Given the description of an element on the screen output the (x, y) to click on. 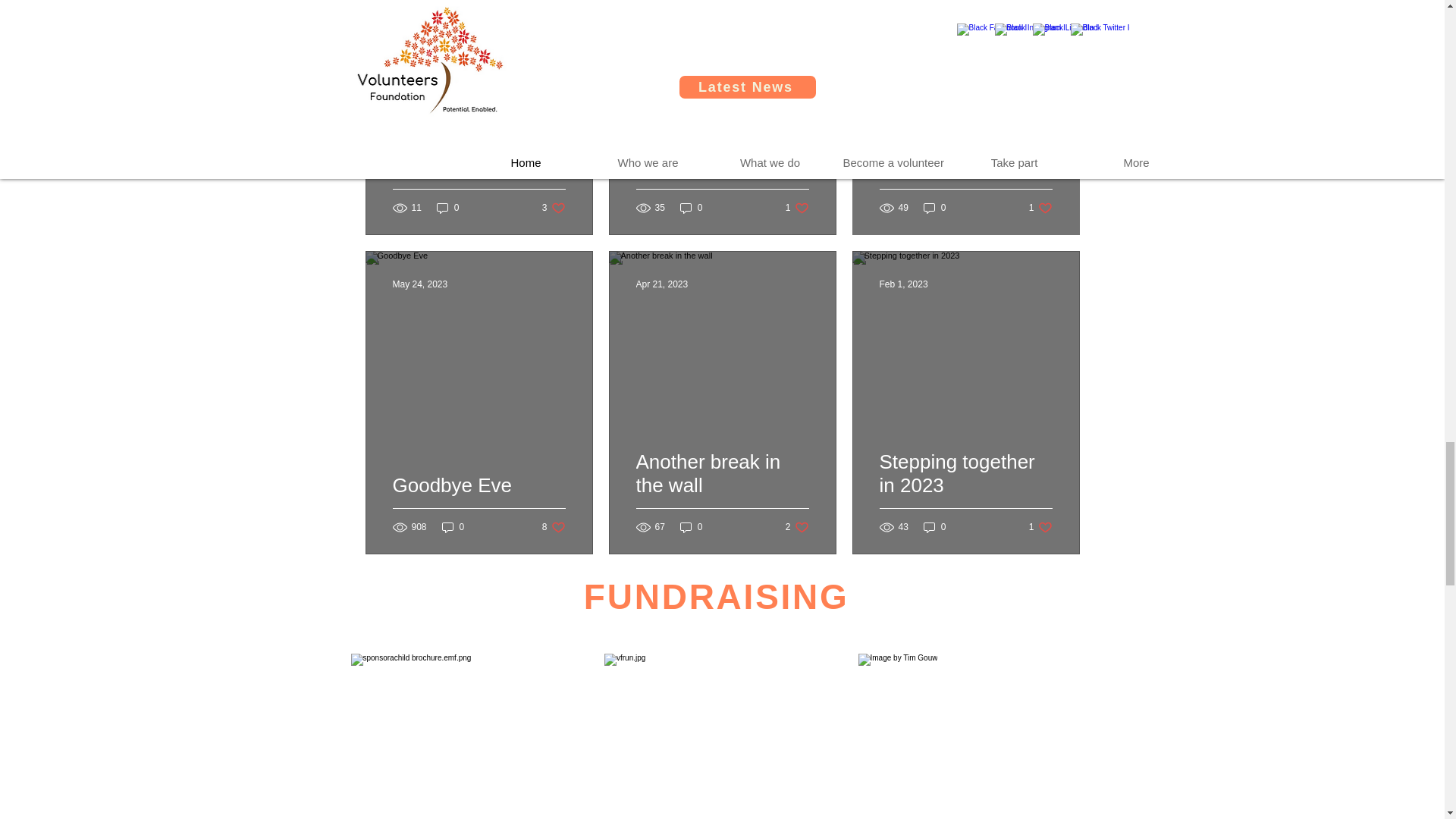
VF at Topical Talk Festival 2023 (965, 172)
Another break in the wall (721, 491)
0 (453, 527)
Feb 1, 2023 (797, 206)
Apr 21, 2023 (903, 284)
Goodbye Eve (660, 284)
0 (479, 503)
May 24, 2023 (934, 206)
